Given the description of an element on the screen output the (x, y) to click on. 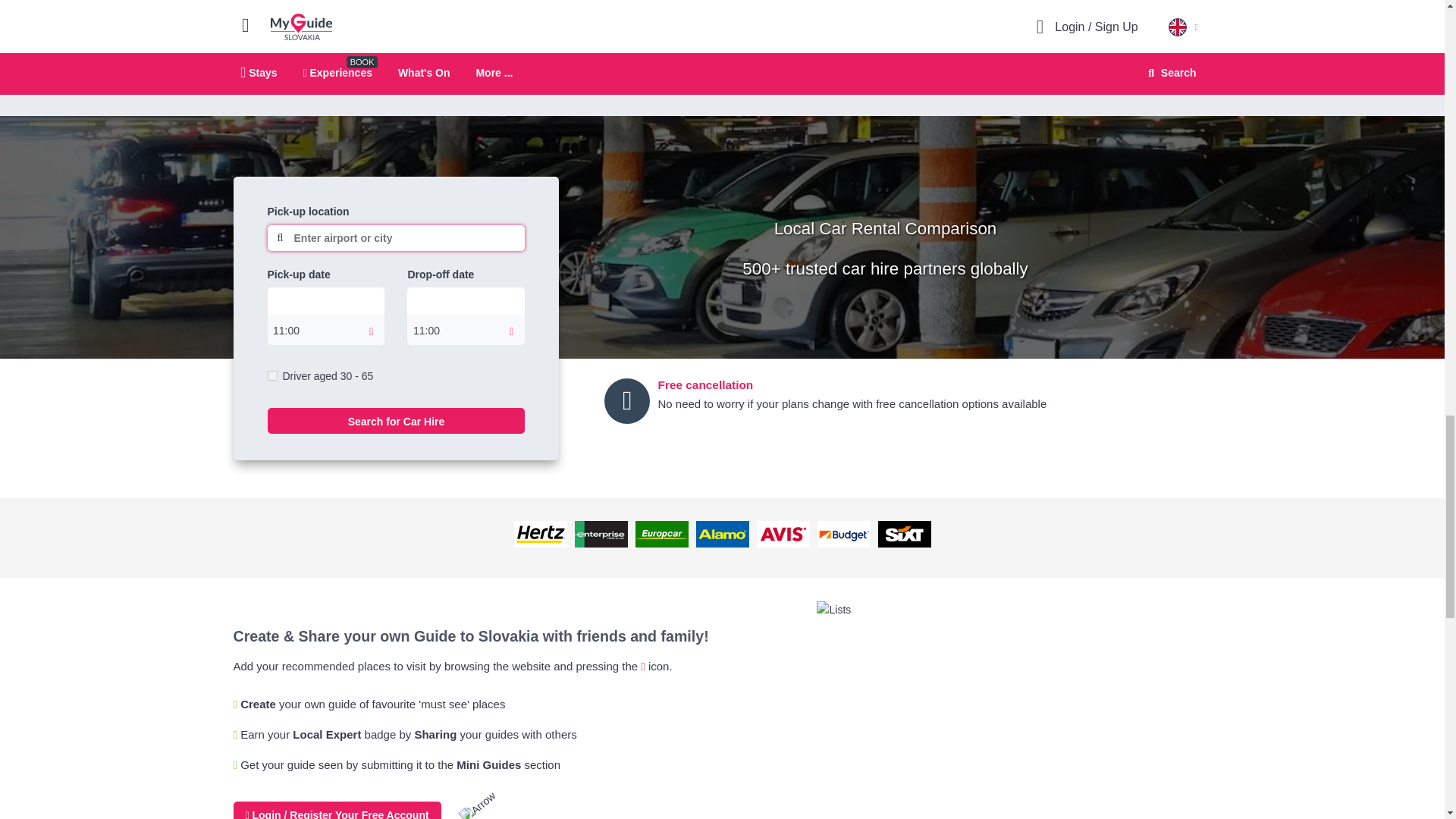
on (271, 375)
